Given the description of an element on the screen output the (x, y) to click on. 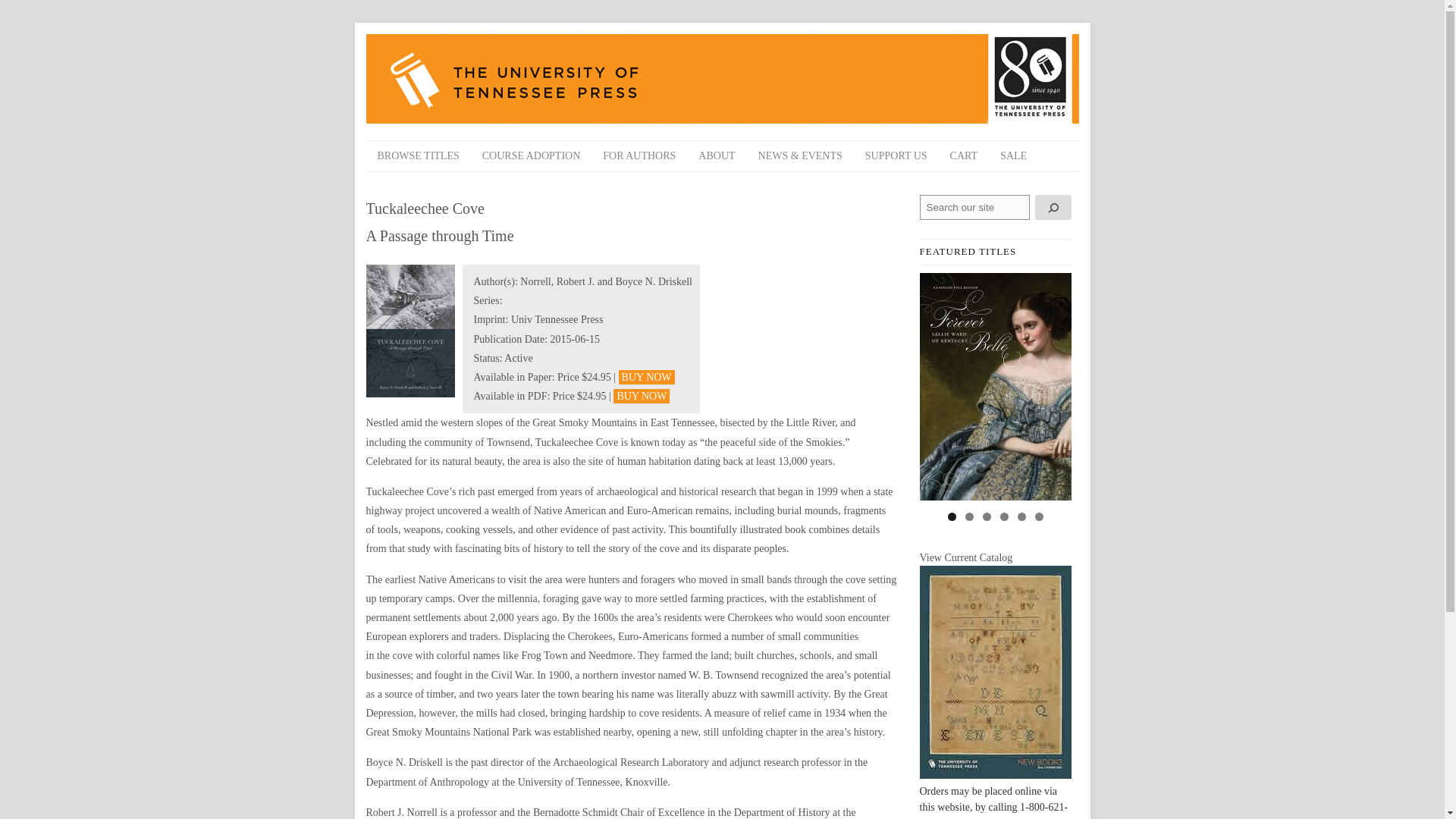
5 (1021, 516)
2 (967, 516)
4 (1002, 516)
BUY NOW (646, 377)
1 (951, 516)
SUPPORT US (896, 155)
CART (964, 155)
FOR AUTHORS (639, 155)
COURSE ADOPTION (531, 155)
BUY NOW (640, 396)
SALE (1013, 155)
6 (1037, 516)
ABOUT (716, 155)
BROWSE TITLES (417, 155)
3 (986, 516)
